Given the description of an element on the screen output the (x, y) to click on. 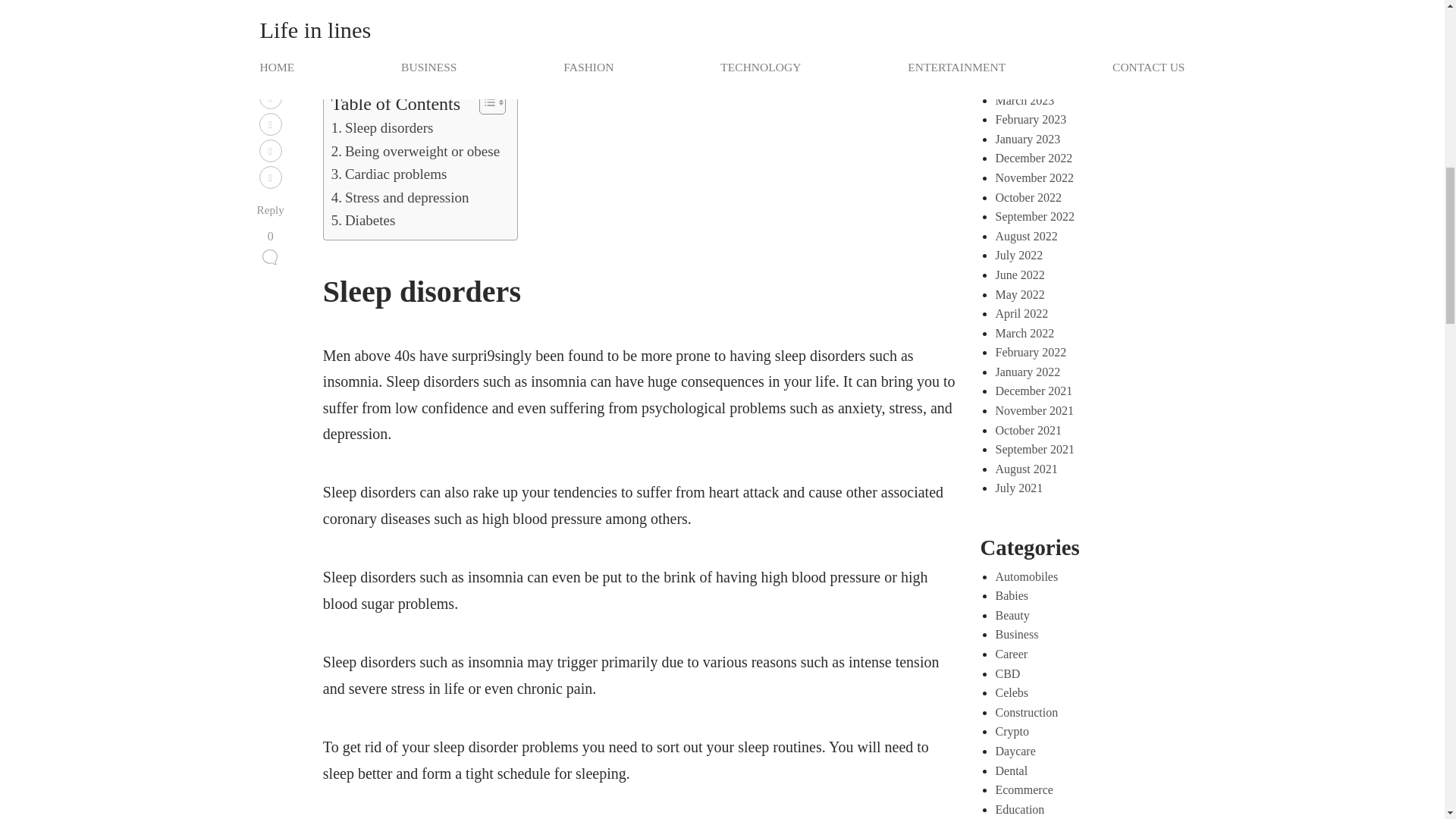
Being overweight or obese (415, 151)
Diabetes (363, 220)
Diabetes (363, 220)
Stress and depression (399, 197)
Cardiac problems (388, 173)
Being overweight or obese (415, 151)
Stress and depression (399, 197)
Cardiac problems (388, 173)
Sleep disorders (382, 128)
Sleep disorders (382, 128)
August 2023 (1025, 4)
